Given the description of an element on the screen output the (x, y) to click on. 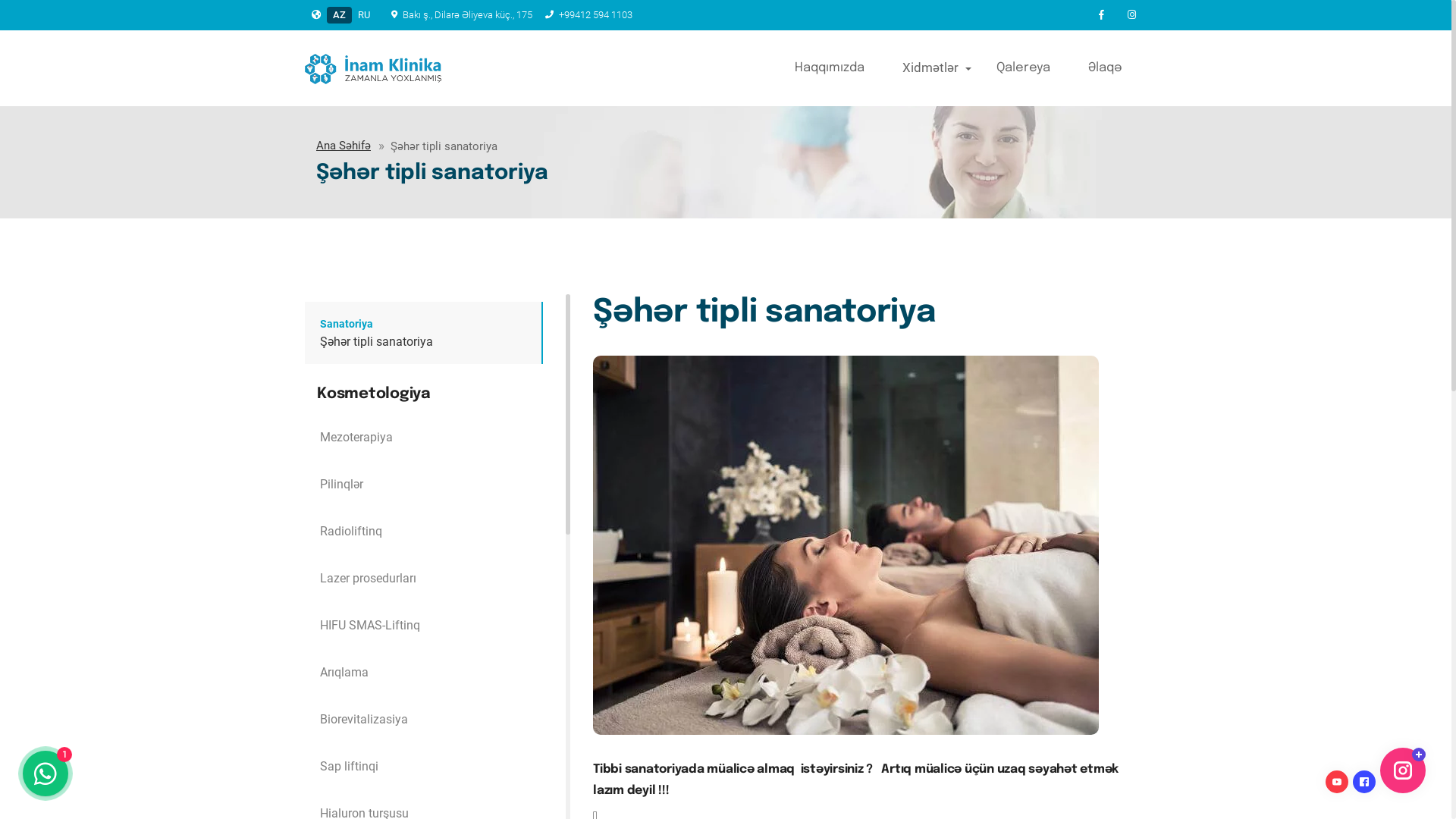
Mezoterapiya Element type: text (423, 437)
Qalereya Element type: text (1028, 67)
facebook Element type: hover (1100, 15)
RU Element type: text (363, 14)
+99412 594 1103 Element type: text (586, 14)
AZ Element type: text (338, 14)
Radioliftinq Element type: text (423, 531)
Biorevitalizasiya Element type: text (423, 719)
Sap liftinqi Element type: text (423, 766)
instagram Element type: hover (1131, 15)
HIFU SMAS-Liftinq Element type: text (423, 625)
